Given the description of an element on the screen output the (x, y) to click on. 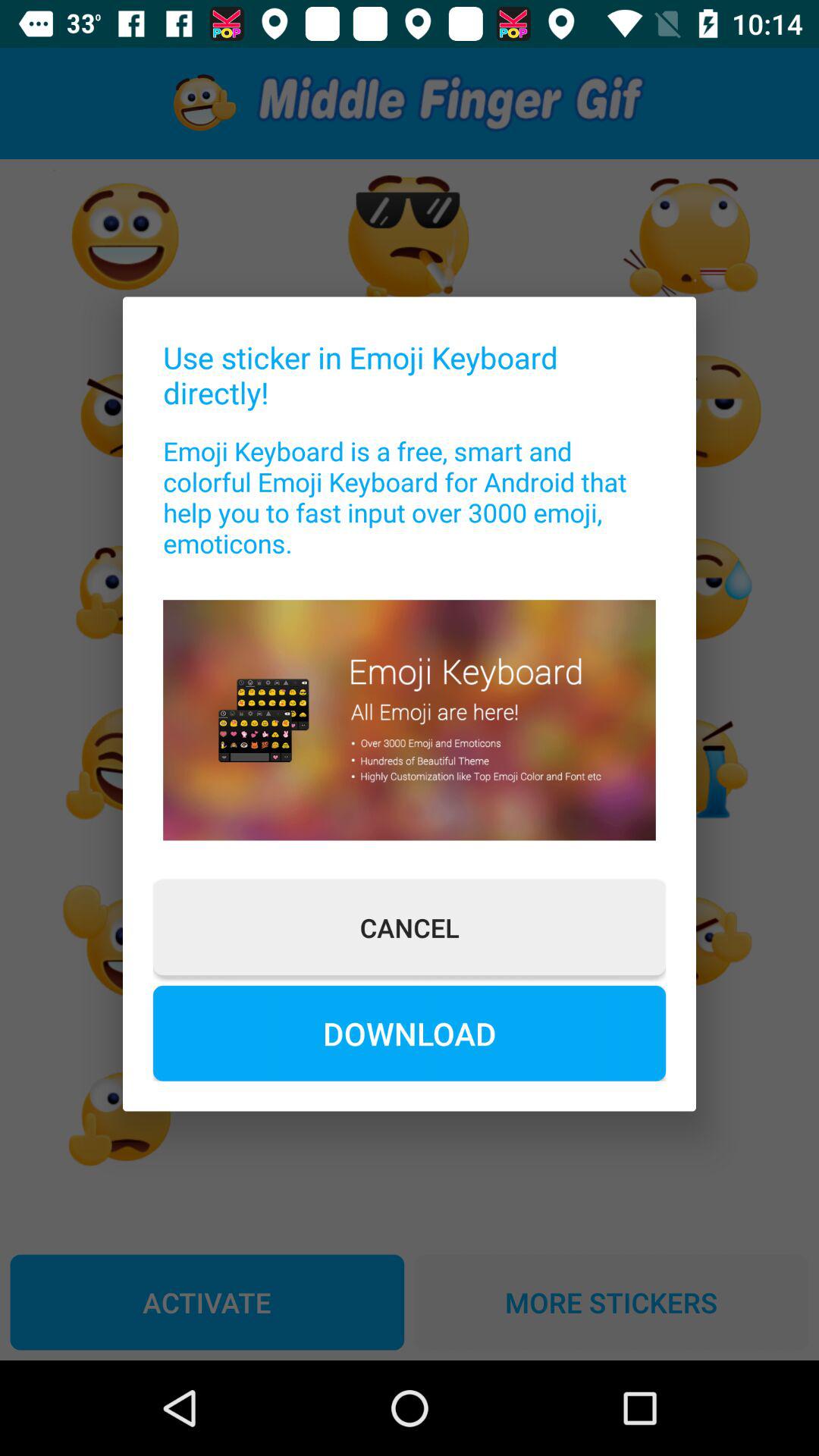
open download (409, 1033)
